Given the description of an element on the screen output the (x, y) to click on. 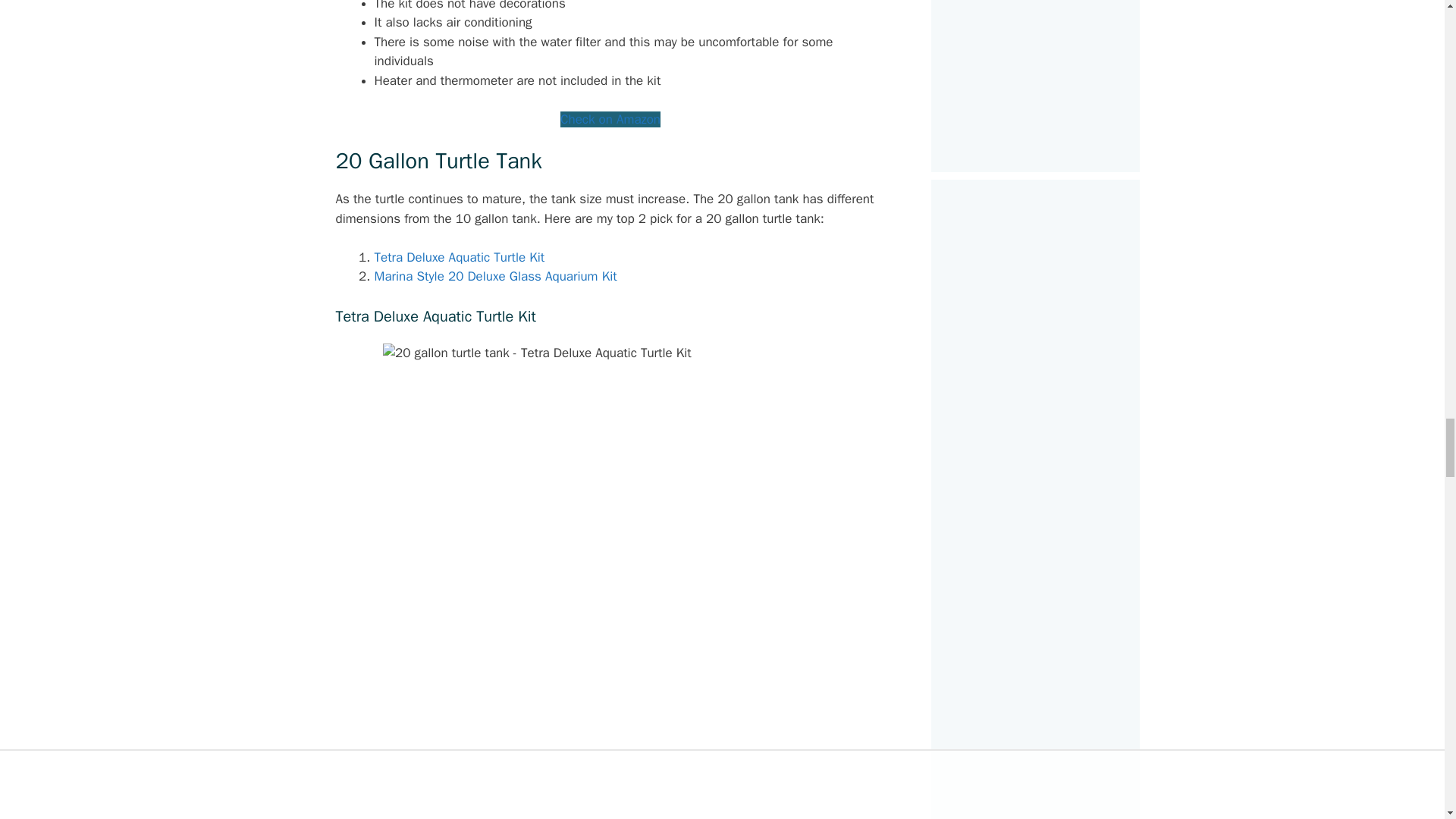
Tetra Deluxe Aquatic Turtle Kit (459, 257)
Check on Amazon (610, 119)
